Given the description of an element on the screen output the (x, y) to click on. 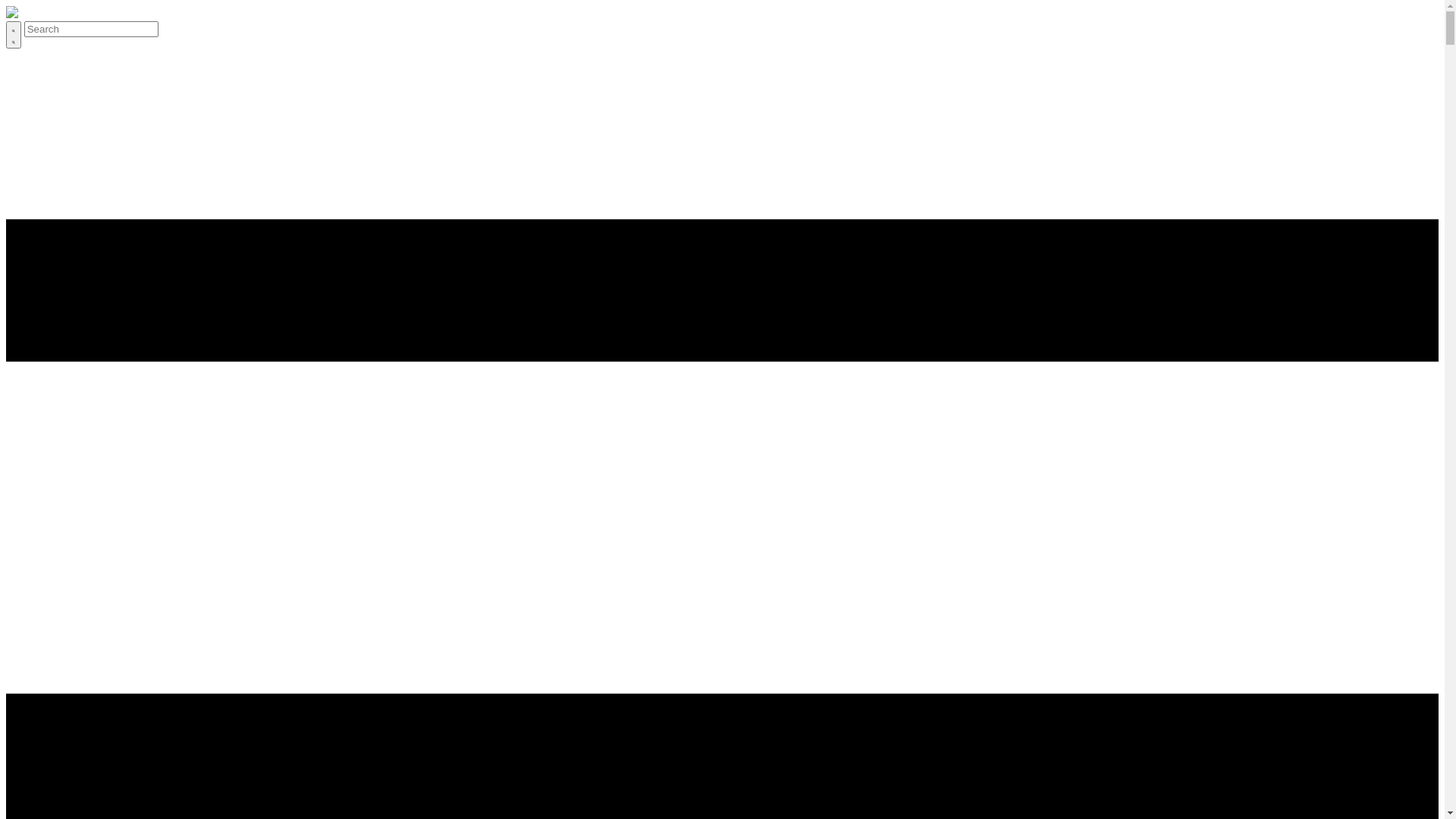
8cube - Motion Pictures Element type: hover (12, 13)
